Given the description of an element on the screen output the (x, y) to click on. 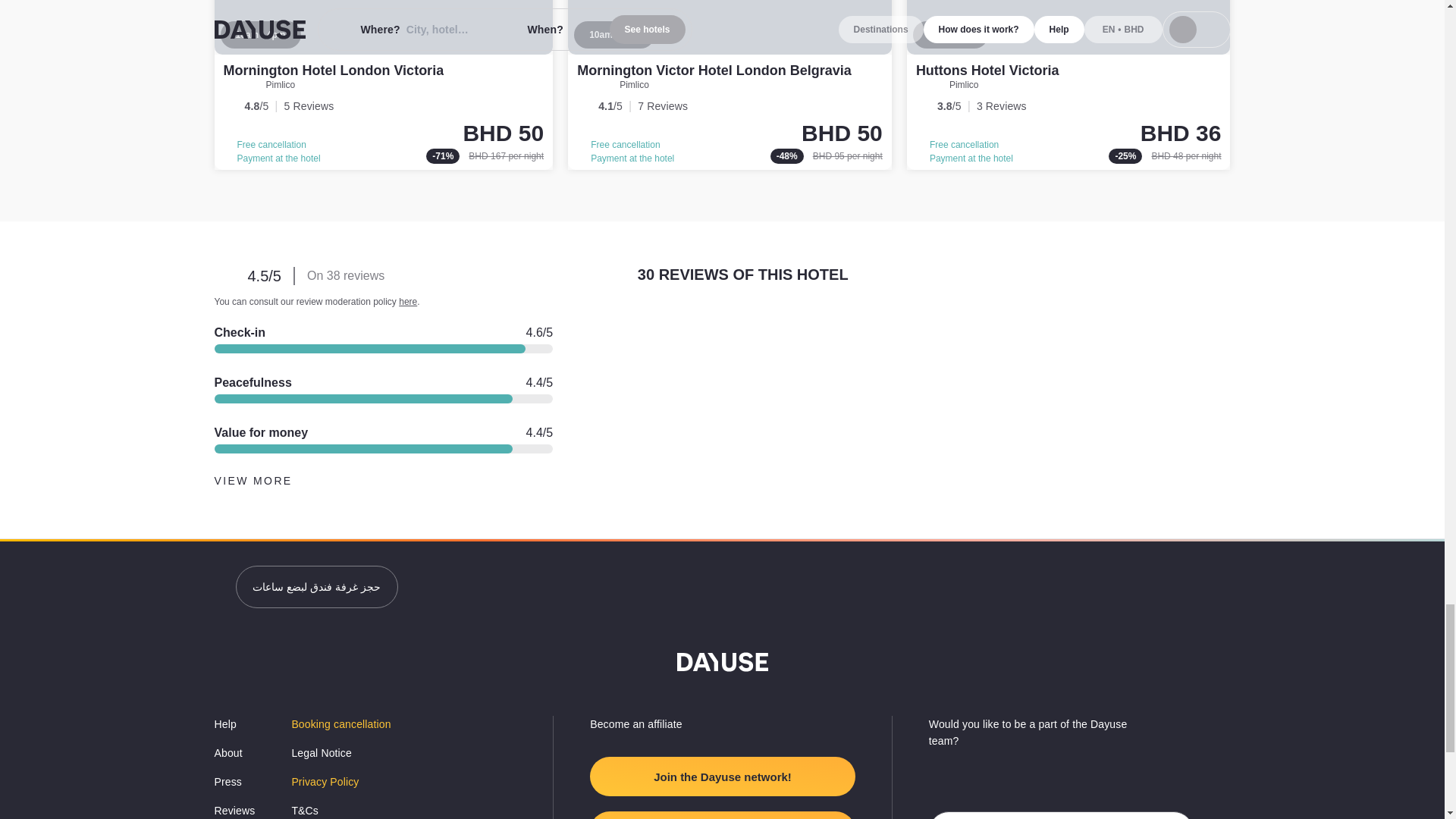
Mornington Victor Hotel London Belgravia (713, 70)
Huttons Hotel Victoria (1068, 84)
Mornington Victor Hotel London Belgravia (729, 84)
Mornington Hotel London Victoria (333, 70)
Huttons Hotel Victoria (987, 70)
Mornington Hotel London Victoria (383, 84)
